Given the description of an element on the screen output the (x, y) to click on. 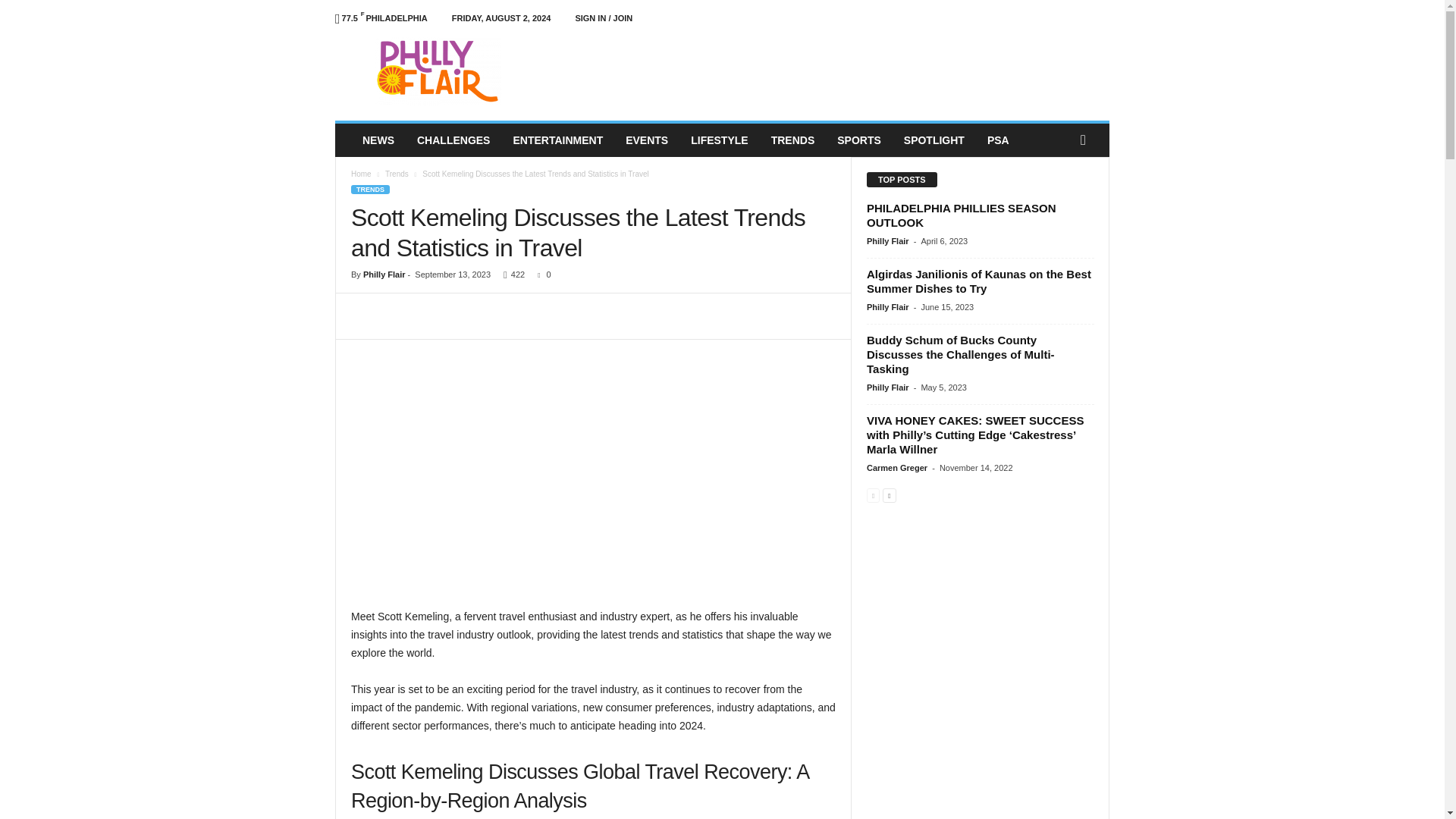
NEWS (378, 140)
CHALLENGES (453, 140)
View all posts in Trends (397, 173)
PhillyFlair (437, 70)
Philly Flair (384, 274)
ENTERTAINMENT (557, 140)
PSA (997, 140)
Philly Flair (437, 70)
TRENDS (370, 189)
EVENTS (646, 140)
LIFESTYLE (718, 140)
0 (540, 274)
SPORTS (858, 140)
Home (360, 173)
SPOTLIGHT (933, 140)
